Given the description of an element on the screen output the (x, y) to click on. 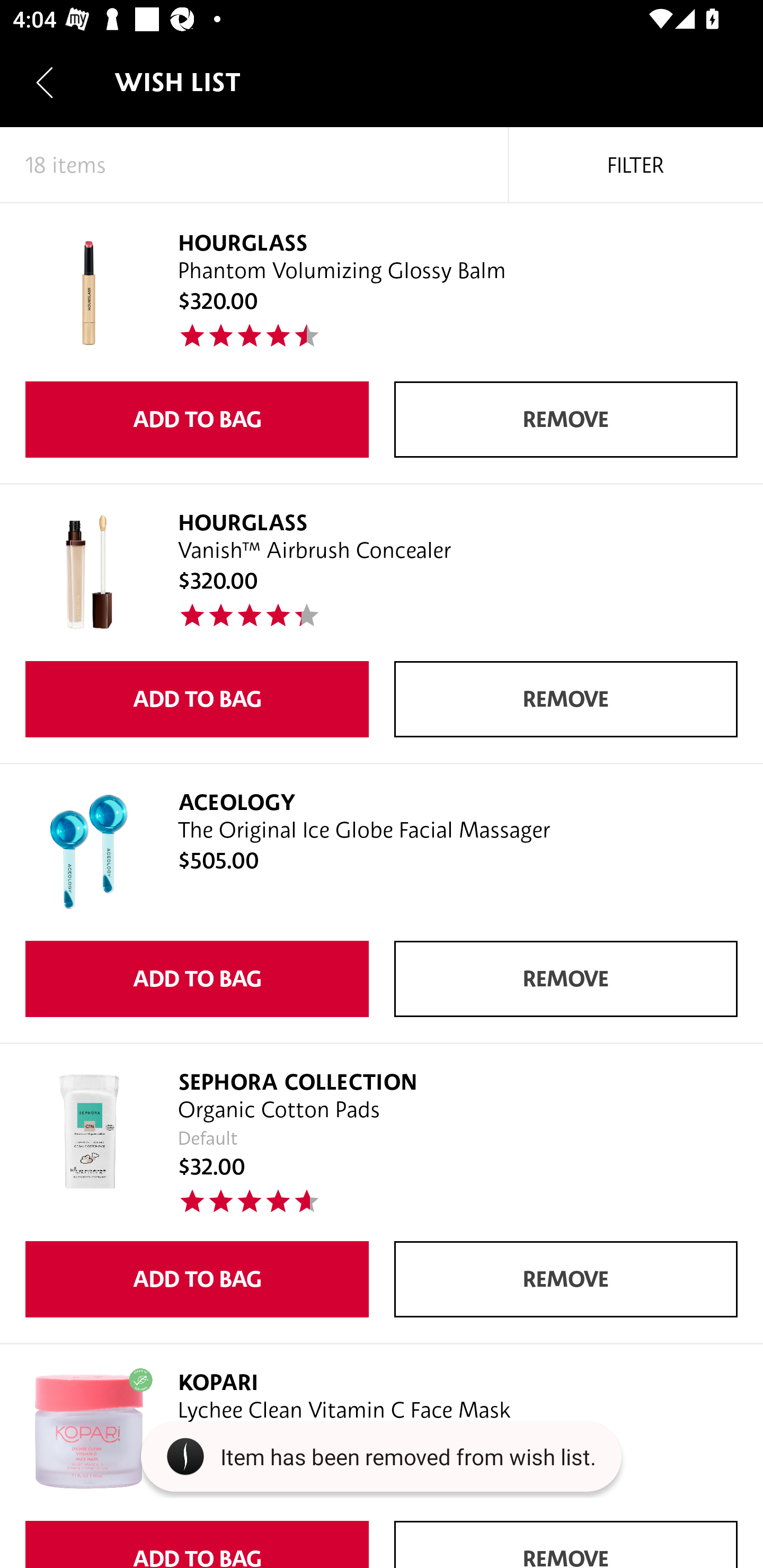
Navigate up (44, 82)
FILTER (635, 165)
ADD TO BAG (196, 419)
REMOVE (565, 419)
ADD TO BAG (196, 698)
REMOVE (565, 698)
ADD TO BAG (196, 978)
REMOVE (565, 978)
ADD TO BAG (196, 1279)
REMOVE (565, 1279)
